Given the description of an element on the screen output the (x, y) to click on. 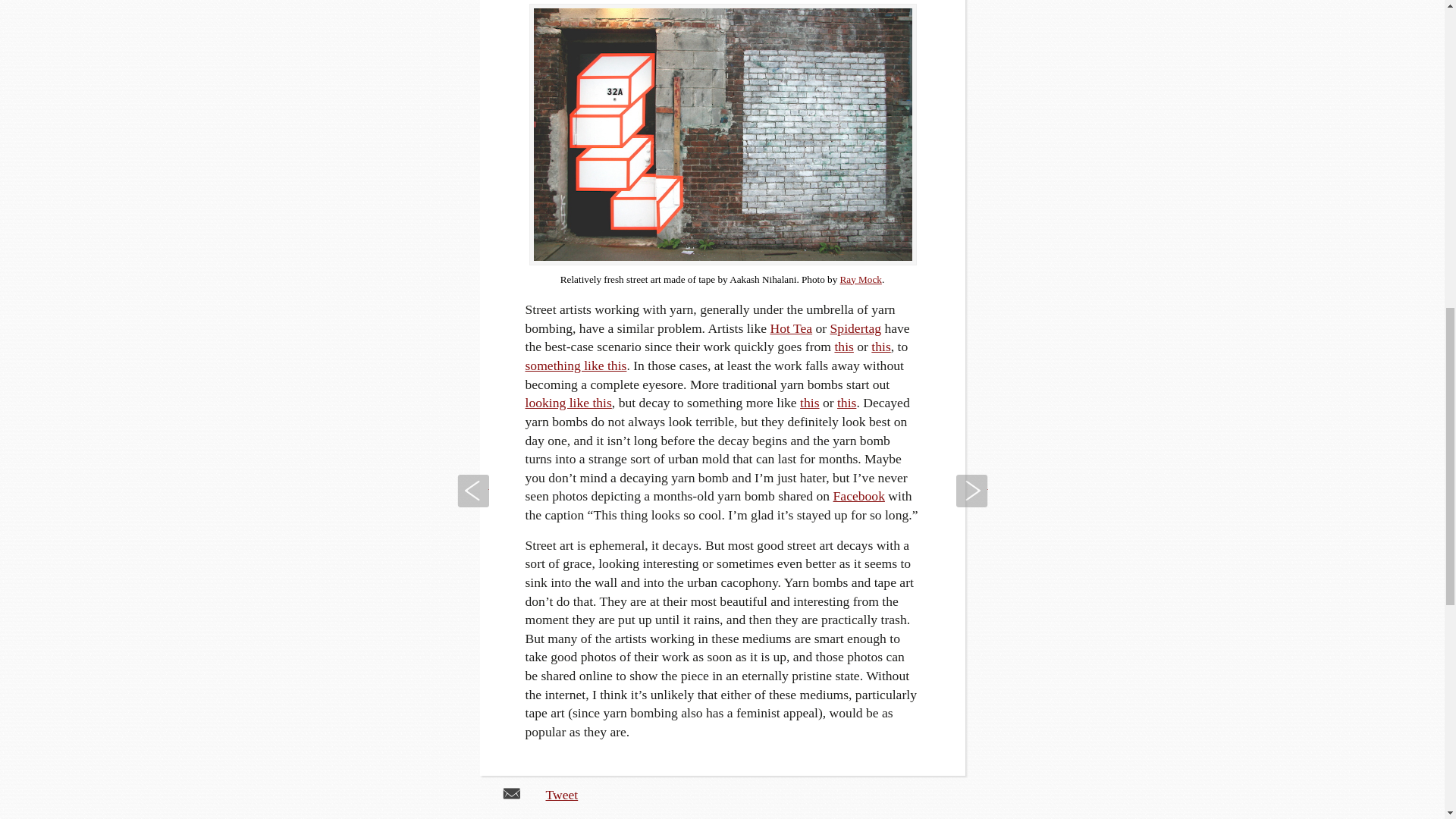
this (808, 402)
Spidertag (854, 328)
Tweet (562, 794)
Email to a friend (511, 791)
Hot Tea (791, 328)
Share via Email (511, 791)
looking like this (567, 402)
Facebook (858, 495)
Ray Mock (861, 278)
this (846, 402)
this (879, 346)
this (843, 346)
something like this (575, 365)
